Given the description of an element on the screen output the (x, y) to click on. 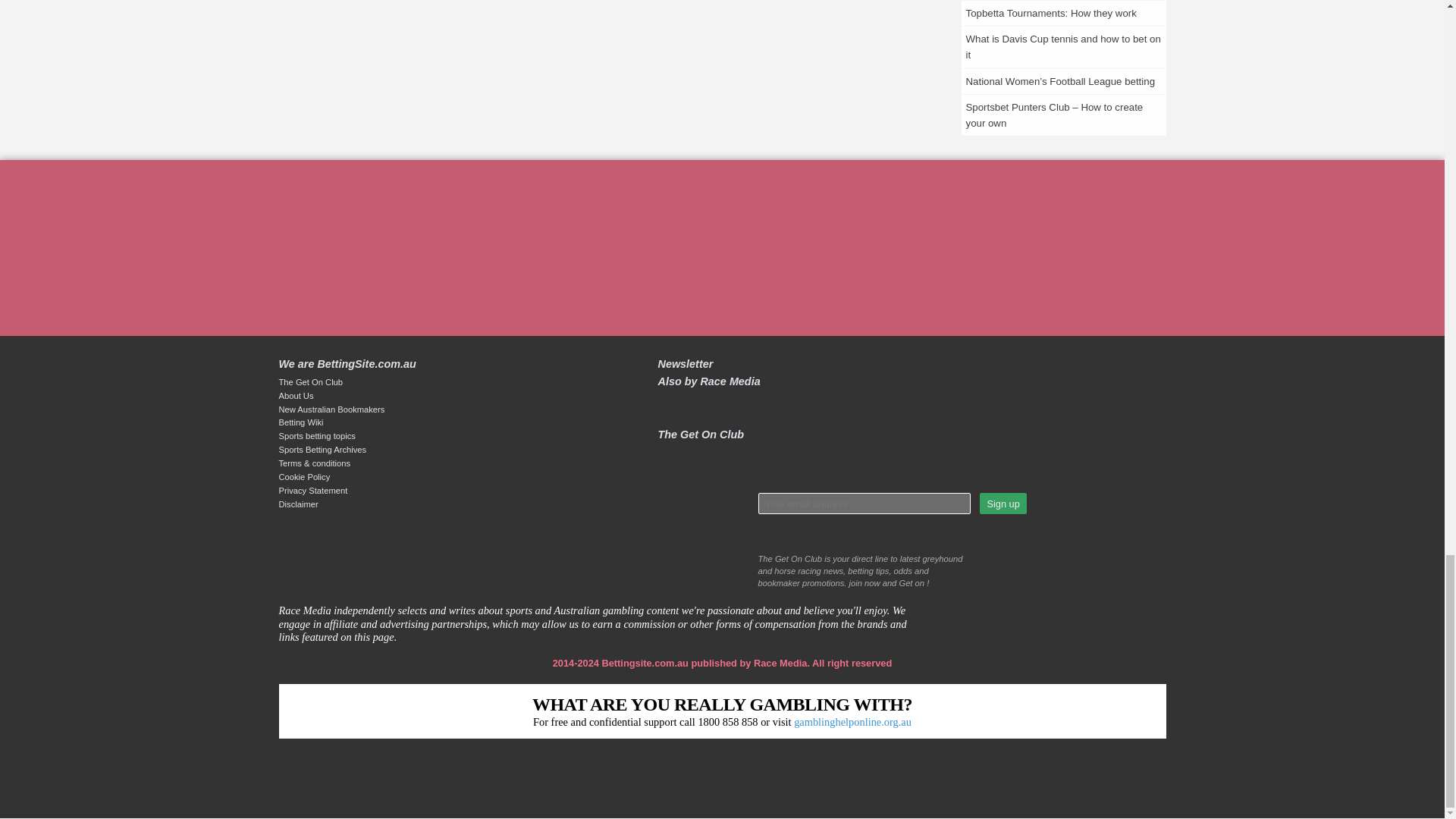
Sign up (1002, 503)
